Given the description of an element on the screen output the (x, y) to click on. 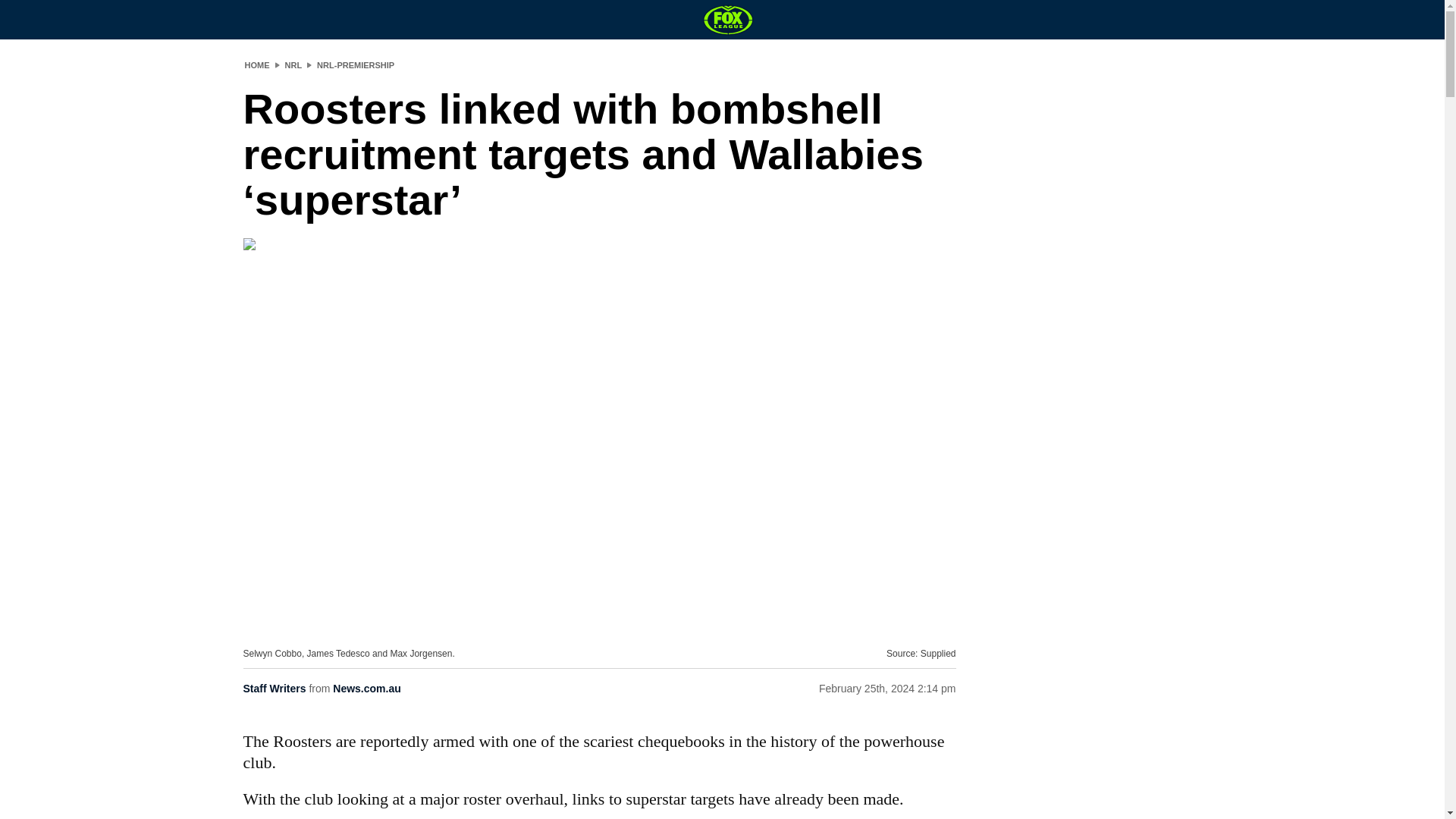
HOME (256, 64)
NRL (293, 64)
NRL-PREMIERSHIP (355, 64)
